Given the description of an element on the screen output the (x, y) to click on. 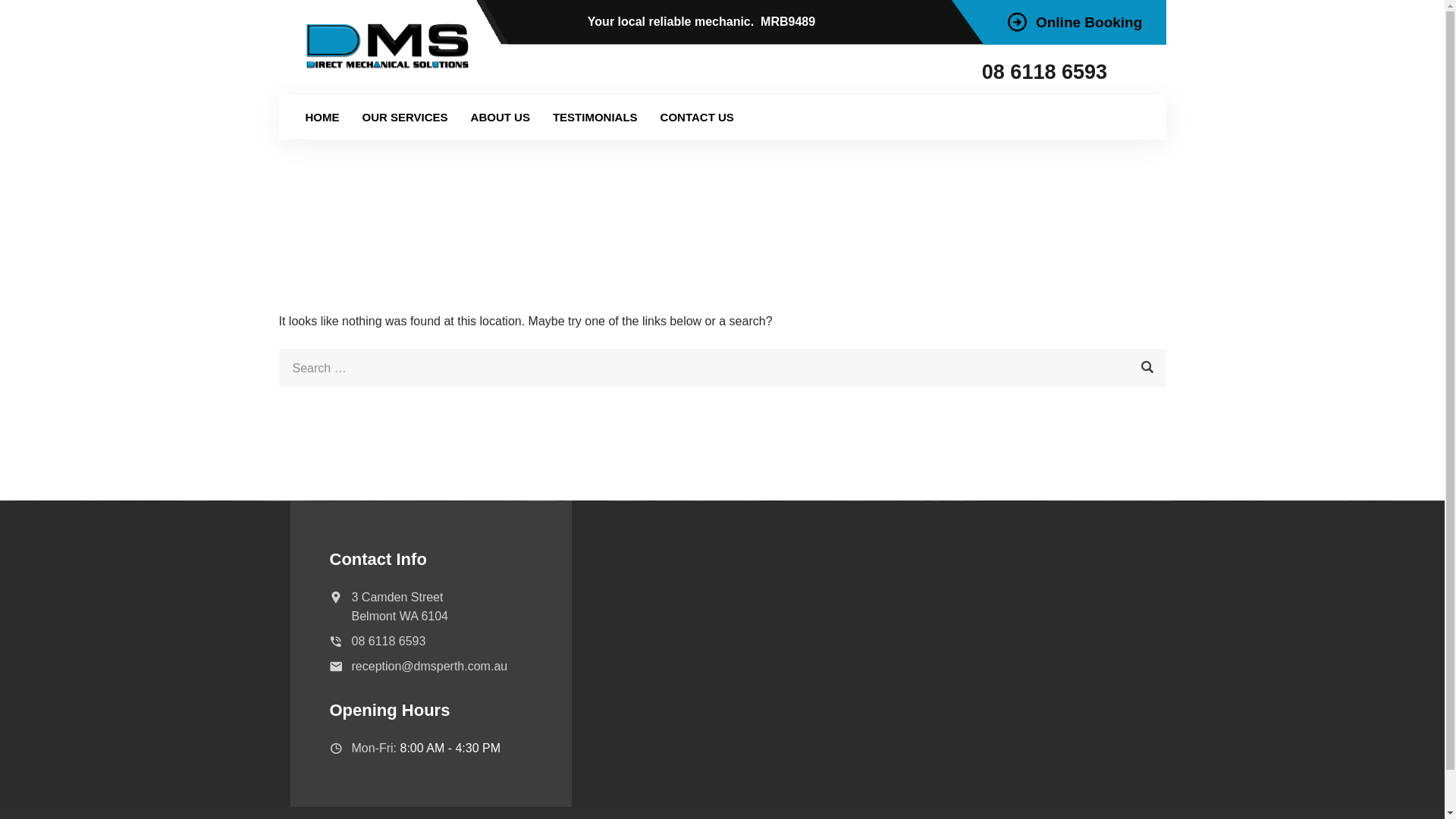
OUR SERVICES Element type: text (404, 116)
HOME Element type: text (322, 116)
TESTIMONIALS Element type: text (595, 116)
Online Booking Element type: text (1075, 22)
08 6118 6593  Element type: text (1047, 71)
CONTACT US Element type: text (697, 116)
reception@dmsperth.com.au Element type: text (429, 665)
ABOUT US Element type: text (500, 116)
